Given the description of an element on the screen output the (x, y) to click on. 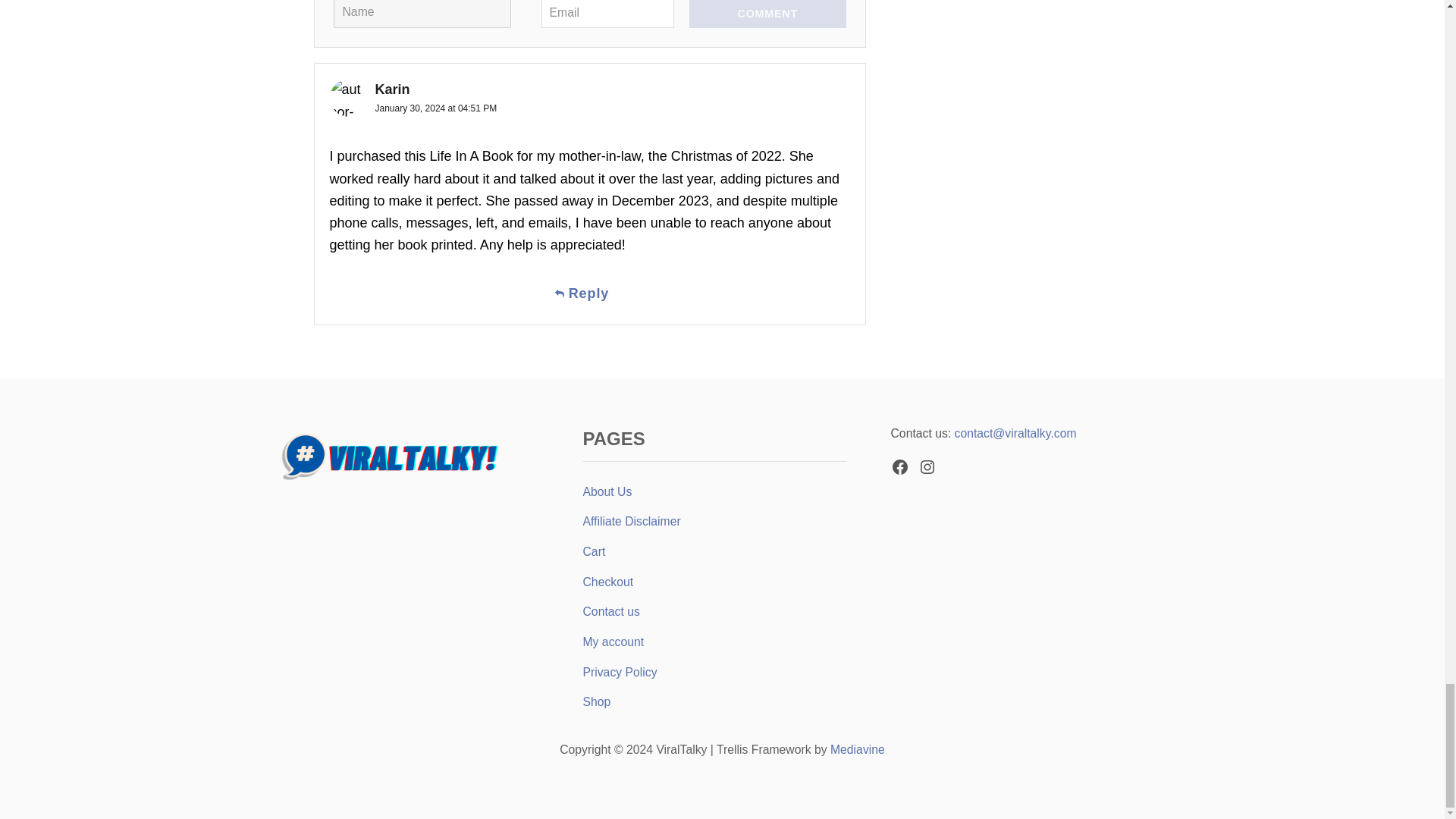
COMMENT (766, 13)
Reply (588, 293)
